Given the description of an element on the screen output the (x, y) to click on. 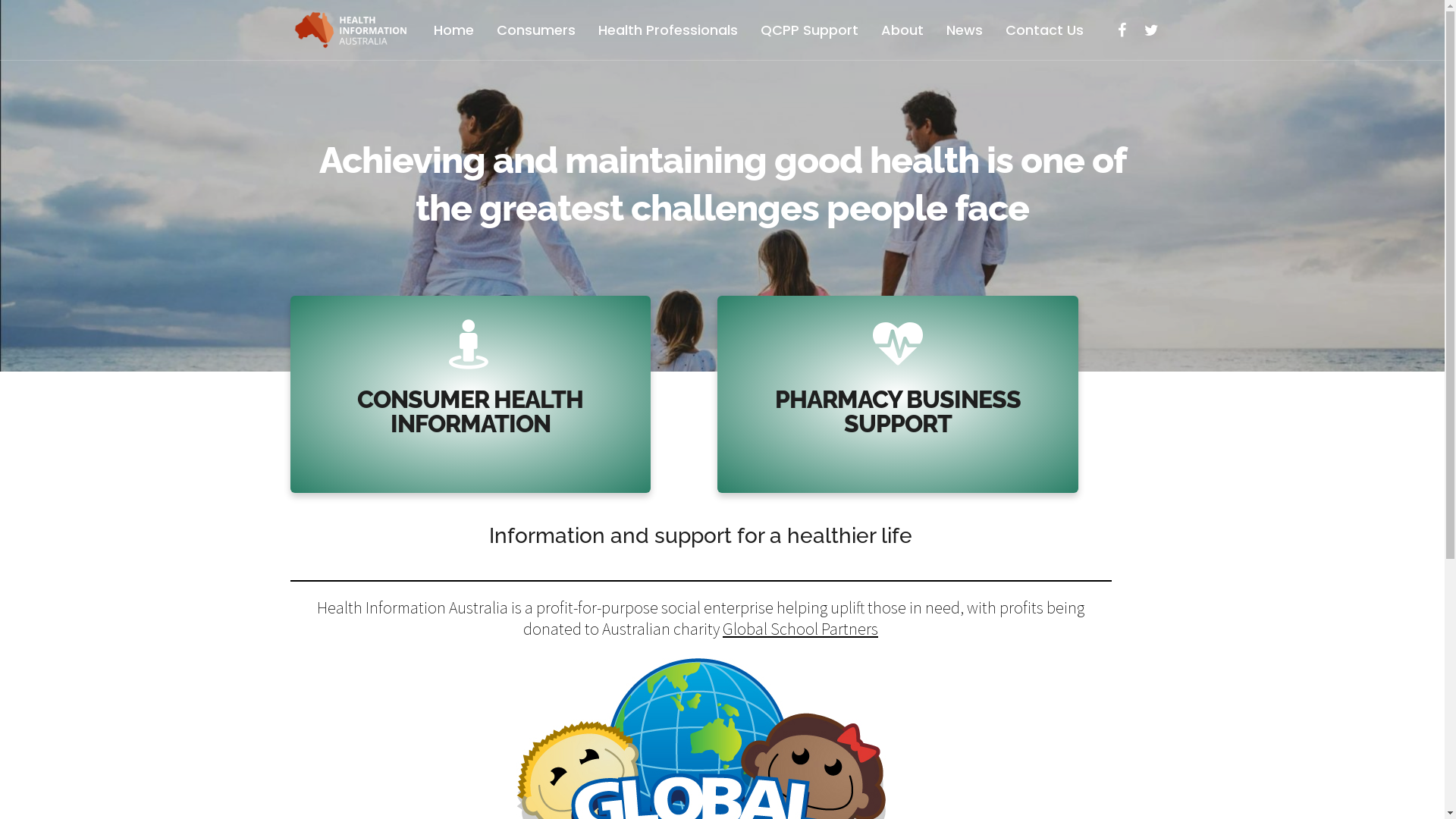
Information and support for a healthier life Element type: text (699, 550)
Home Element type: text (452, 30)
Contact Us Element type: text (1043, 30)
News Element type: text (963, 30)
About Element type: text (901, 30)
PHARMACY BUSINESS
SUPPORT Element type: text (897, 377)
Consumers Element type: text (535, 30)
CONSUMER HEALTH
INFORMATION Element type: text (470, 377)
Global School Partners Element type: text (800, 628)
Health Professionals Element type: text (667, 30)
QCPP Support Element type: text (809, 30)
